Given the description of an element on the screen output the (x, y) to click on. 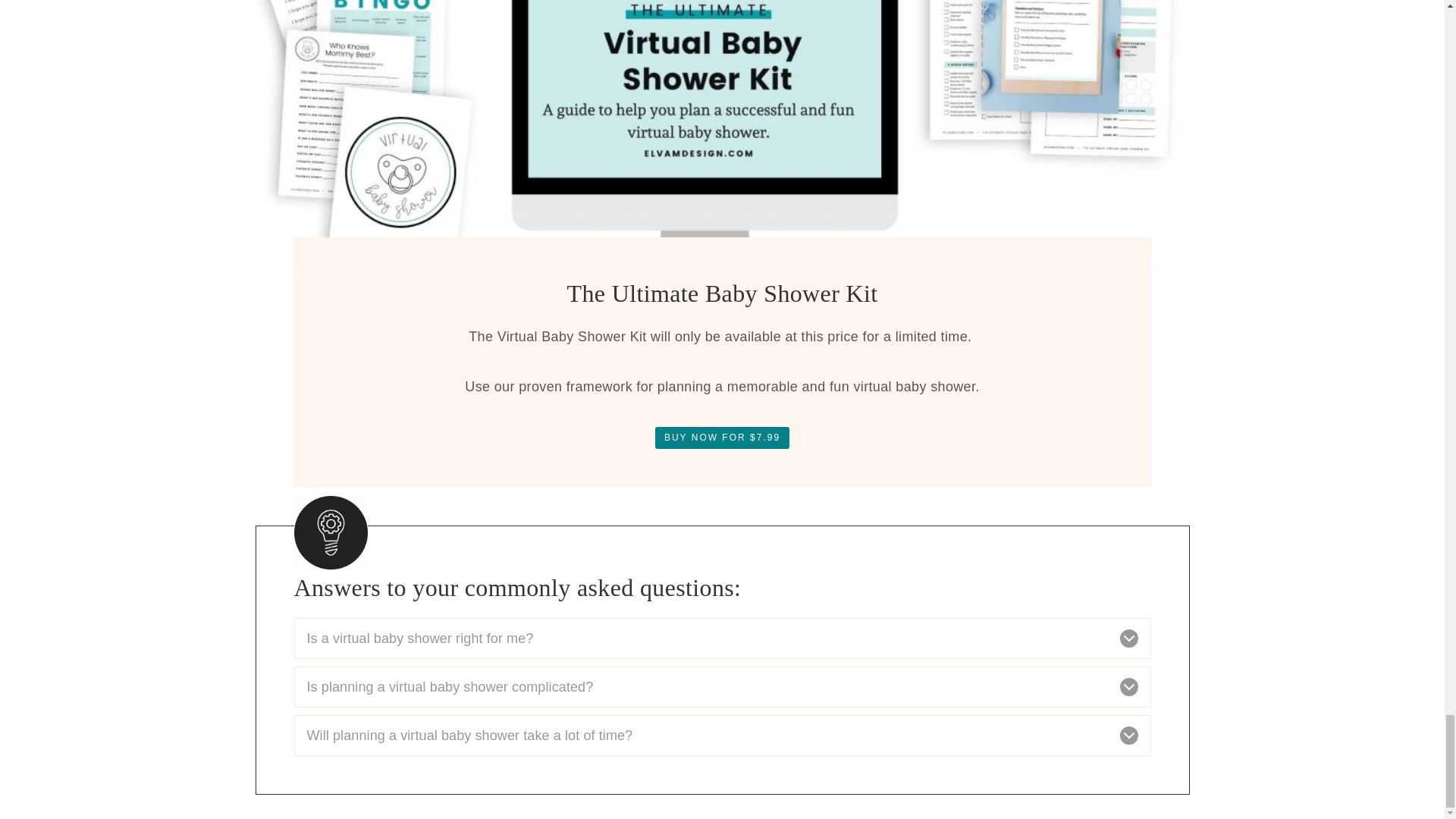
Will planning a virtual baby shower take a lot of time? (722, 734)
Is planning a virtual baby shower complicated? (722, 686)
Is a virtual baby shower right for me? (722, 638)
